Given the description of an element on the screen output the (x, y) to click on. 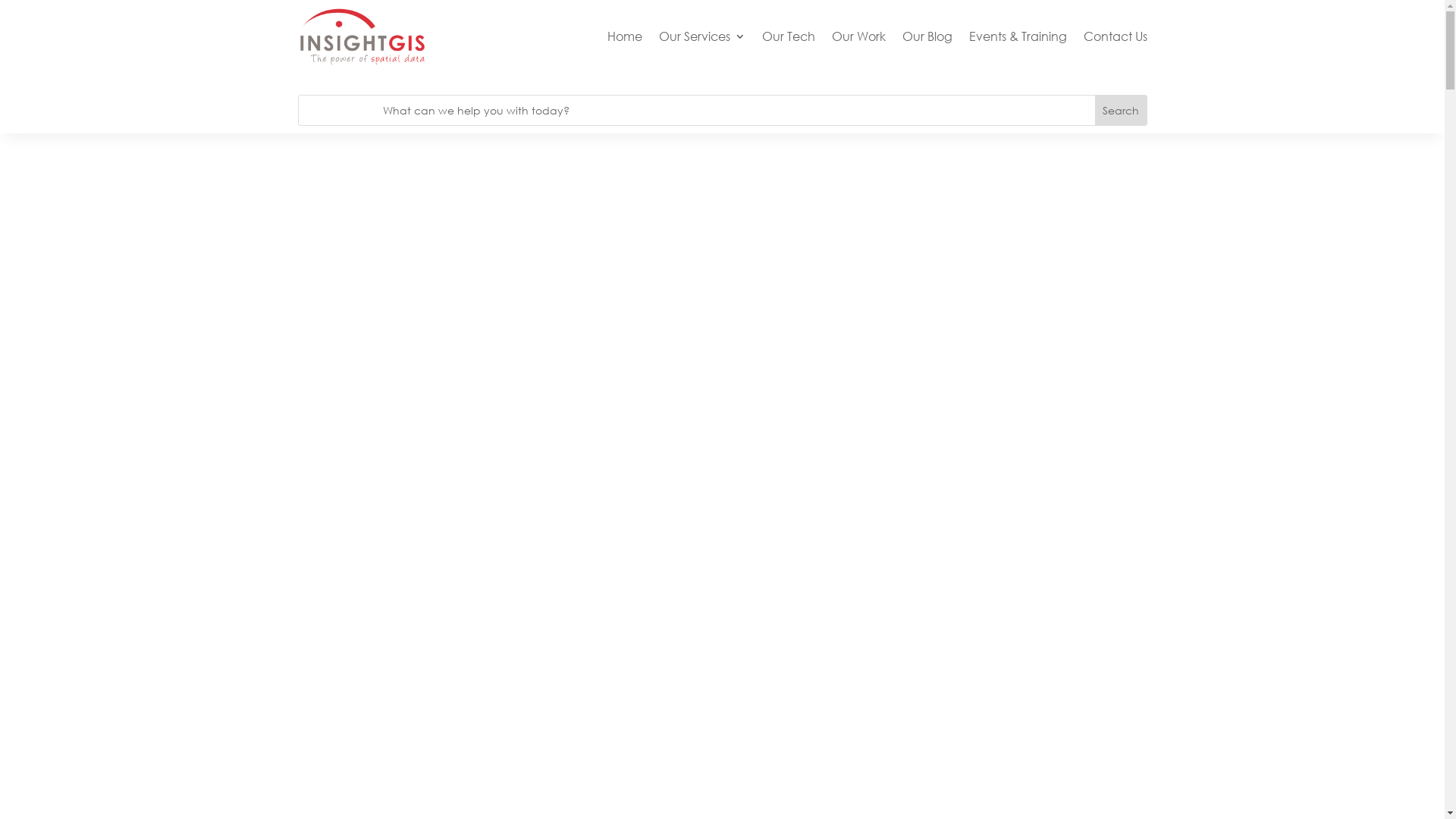
Our Work Element type: text (857, 36)
Contact Us Element type: text (1114, 36)
Home Element type: text (623, 36)
Our Tech Element type: text (787, 36)
Our Services Element type: text (701, 36)
Search Element type: text (1120, 110)
Our Blog Element type: text (927, 36)
Events & Training Element type: text (1017, 36)
